Given the description of an element on the screen output the (x, y) to click on. 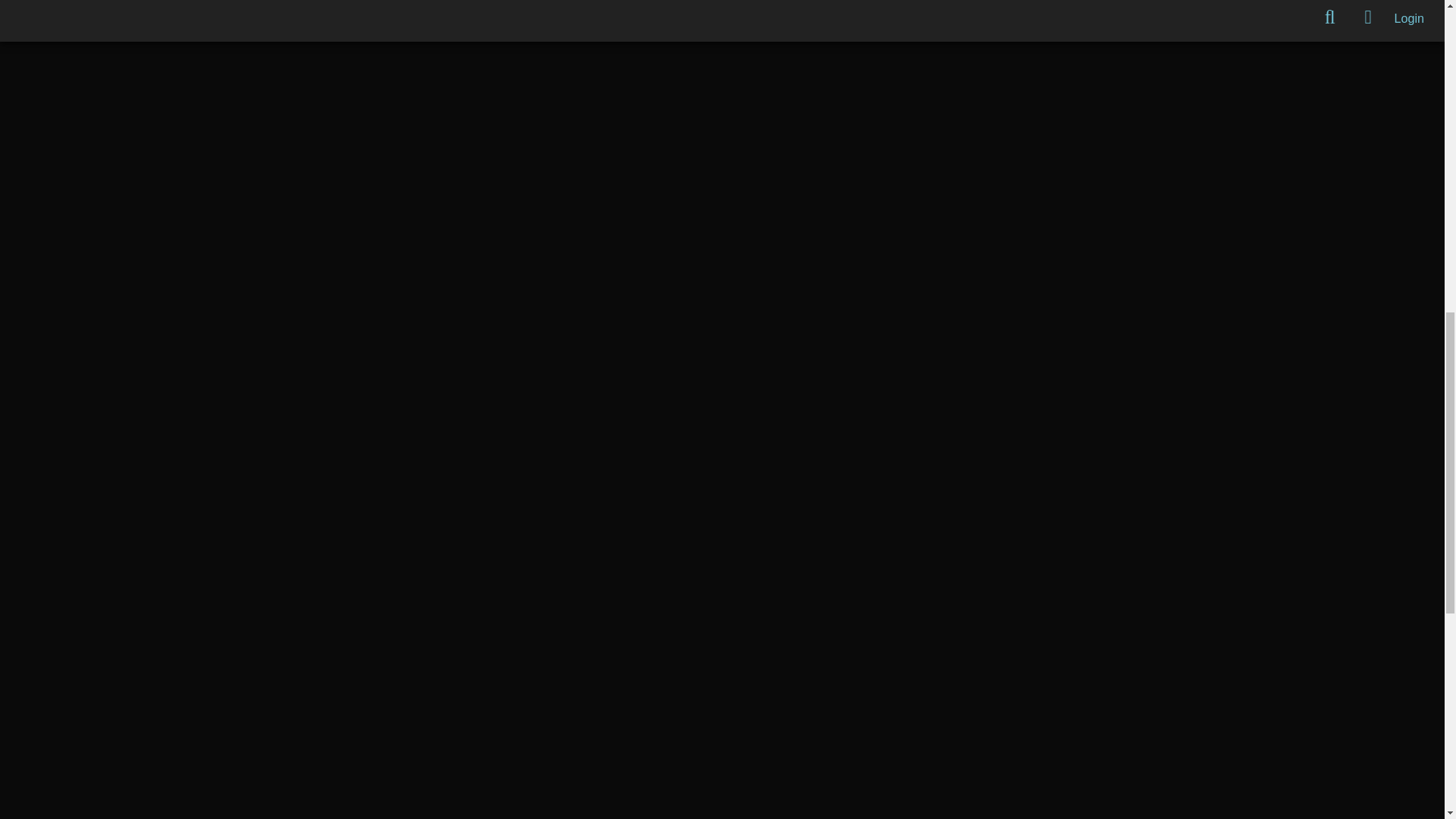
Sign in (1409, 17)
Login (1409, 17)
Apps (1368, 17)
